Given the description of an element on the screen output the (x, y) to click on. 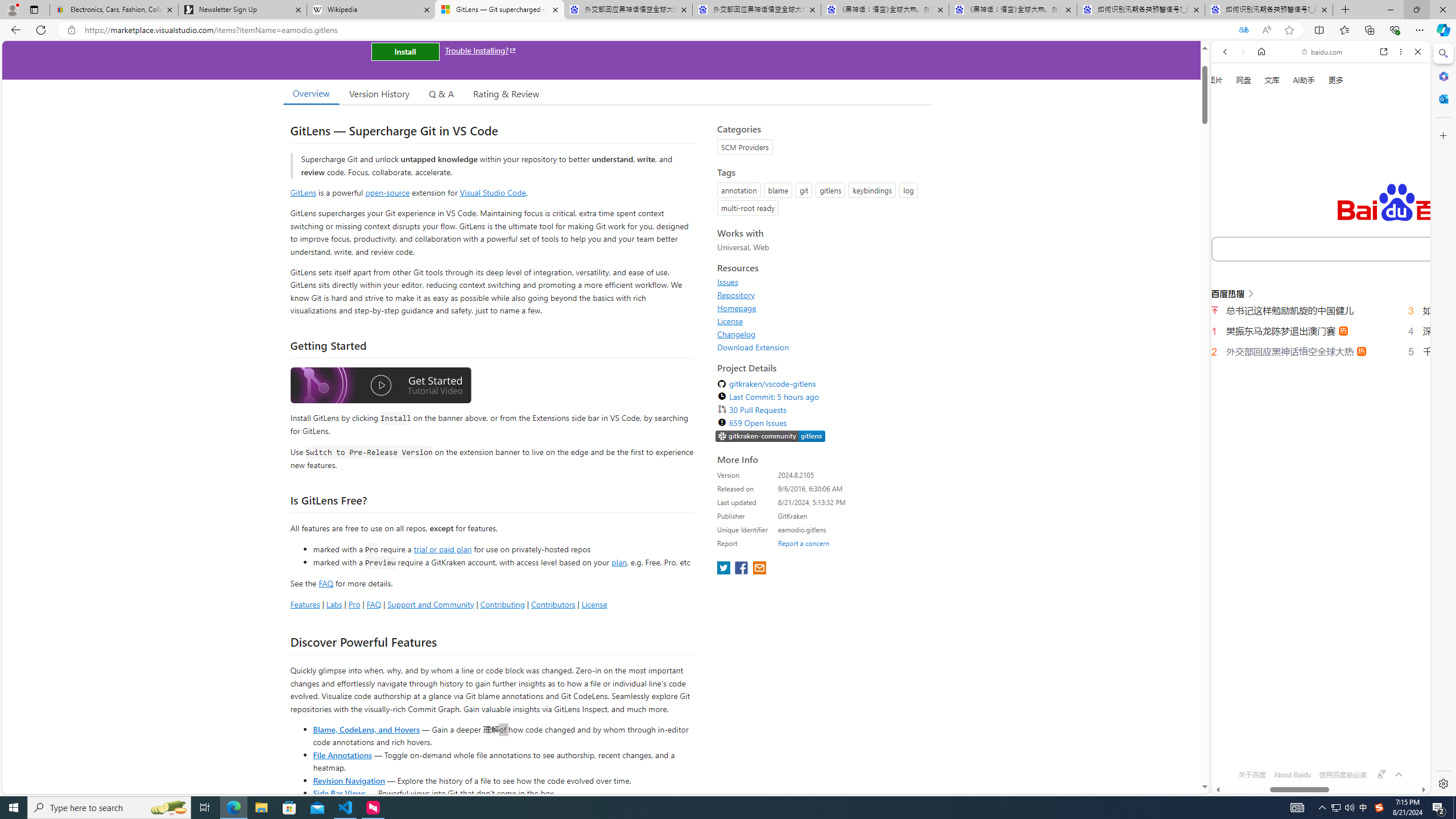
OFTV - Enjoy videos from your favorite OF creators! (1315, 753)
